Given the description of an element on the screen output the (x, y) to click on. 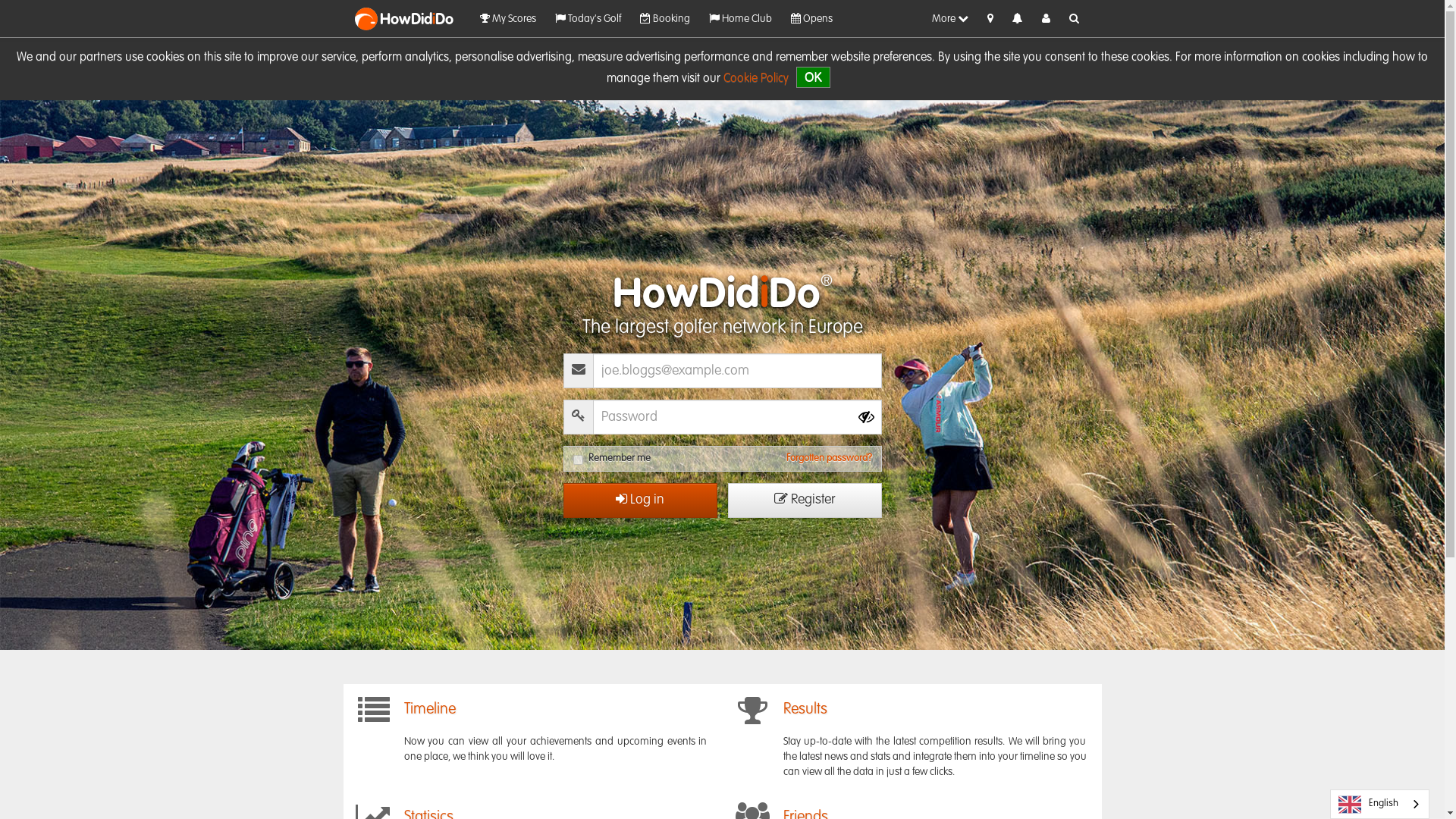
Cookie Policy (756, 78)
Book and play (664, 19)
HowDidiDo (413, 18)
More (949, 19)
Booking (664, 19)
My Scores (507, 19)
Opens (811, 19)
Opens (811, 19)
Home Club (739, 19)
true (578, 460)
Notifications (1016, 19)
Check In (990, 19)
View your Golf history (507, 19)
View your clubs (739, 19)
Today's Golf (587, 19)
